Given the description of an element on the screen output the (x, y) to click on. 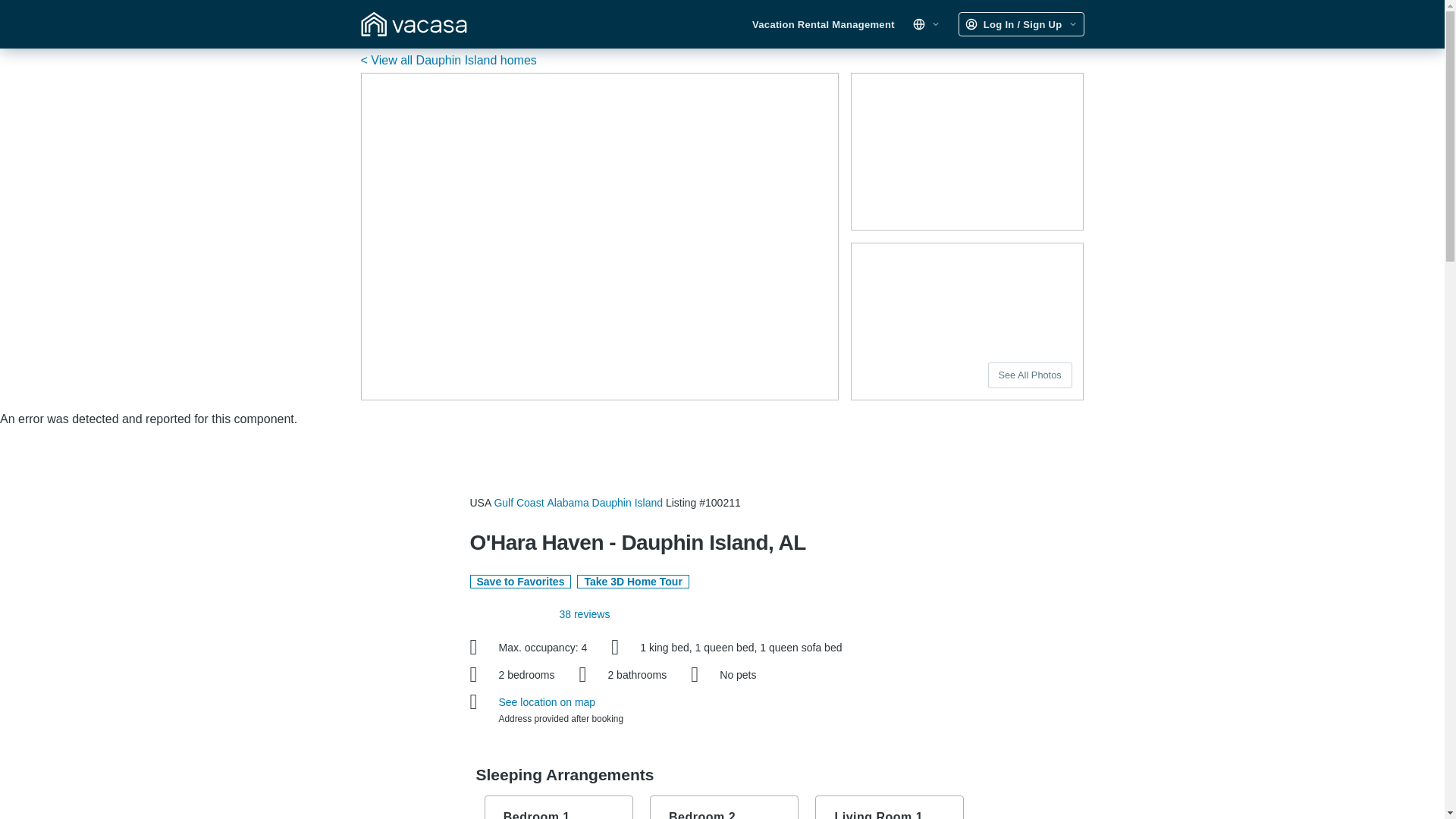
38 reviews (584, 613)
Click to add this home to your Favorites (521, 581)
Save to Favorites (521, 581)
See All Photos (1029, 375)
Gulf Coast (518, 502)
Alabama (567, 502)
Vacation Rental Management (823, 24)
Dauphin Island (627, 502)
See location on map (547, 702)
Take 3D Home Tour (632, 581)
